Given the description of an element on the screen output the (x, y) to click on. 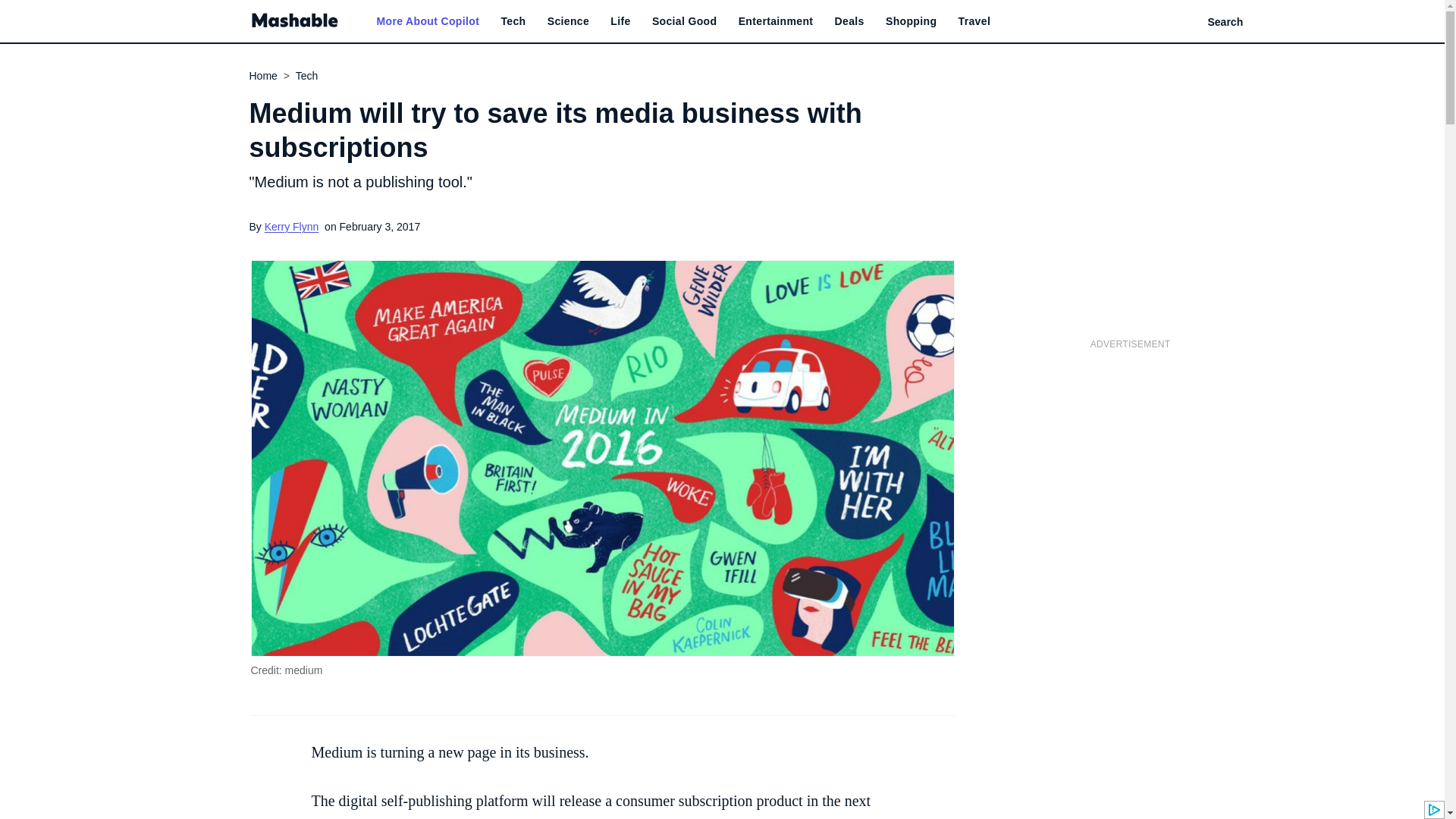
Travel (974, 21)
Tech (512, 21)
Social Good (684, 21)
More About Copilot (427, 21)
Life (620, 21)
Deals (849, 21)
Shopping (910, 21)
Entertainment (775, 21)
Science (568, 21)
